Given the description of an element on the screen output the (x, y) to click on. 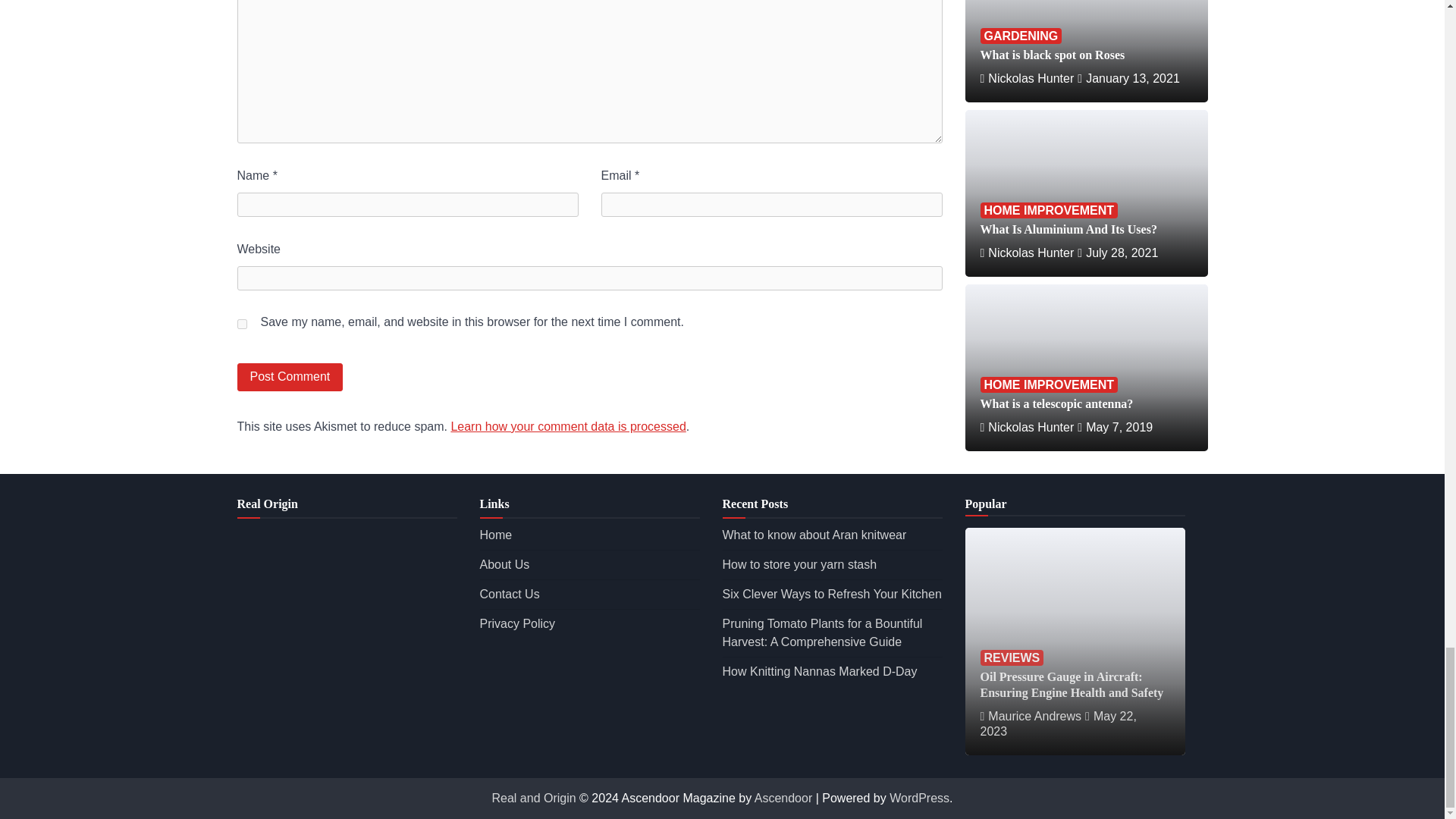
yes (240, 324)
Post Comment (288, 377)
